Given the description of an element on the screen output the (x, y) to click on. 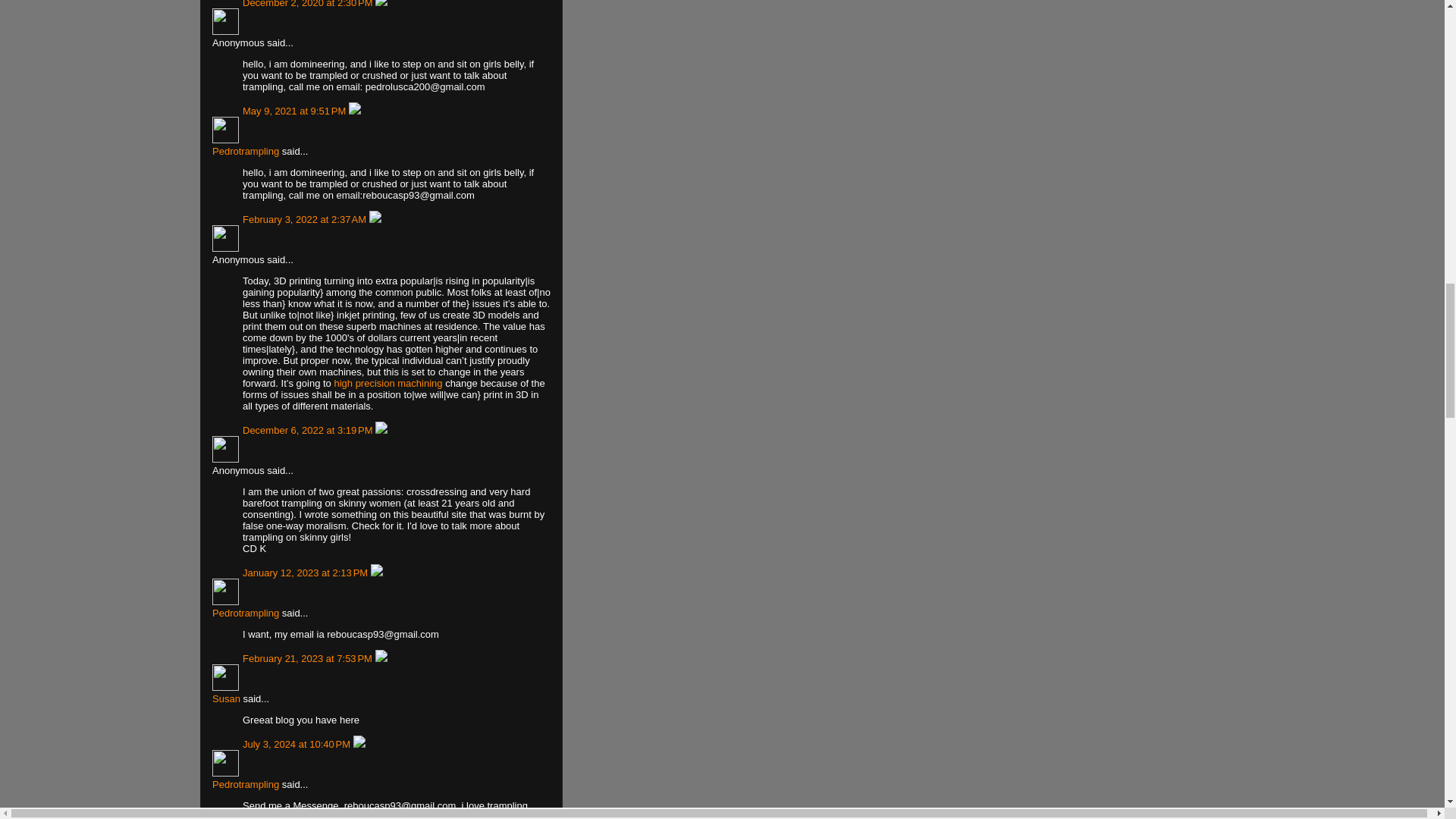
Anonymous (225, 21)
Delete Comment (381, 4)
Delete Comment (355, 111)
Pedrotrampling (225, 130)
comment permalink (296, 111)
comment permalink (309, 4)
Pedrotrampling (245, 151)
high precision machining (387, 383)
